Given the description of an element on the screen output the (x, y) to click on. 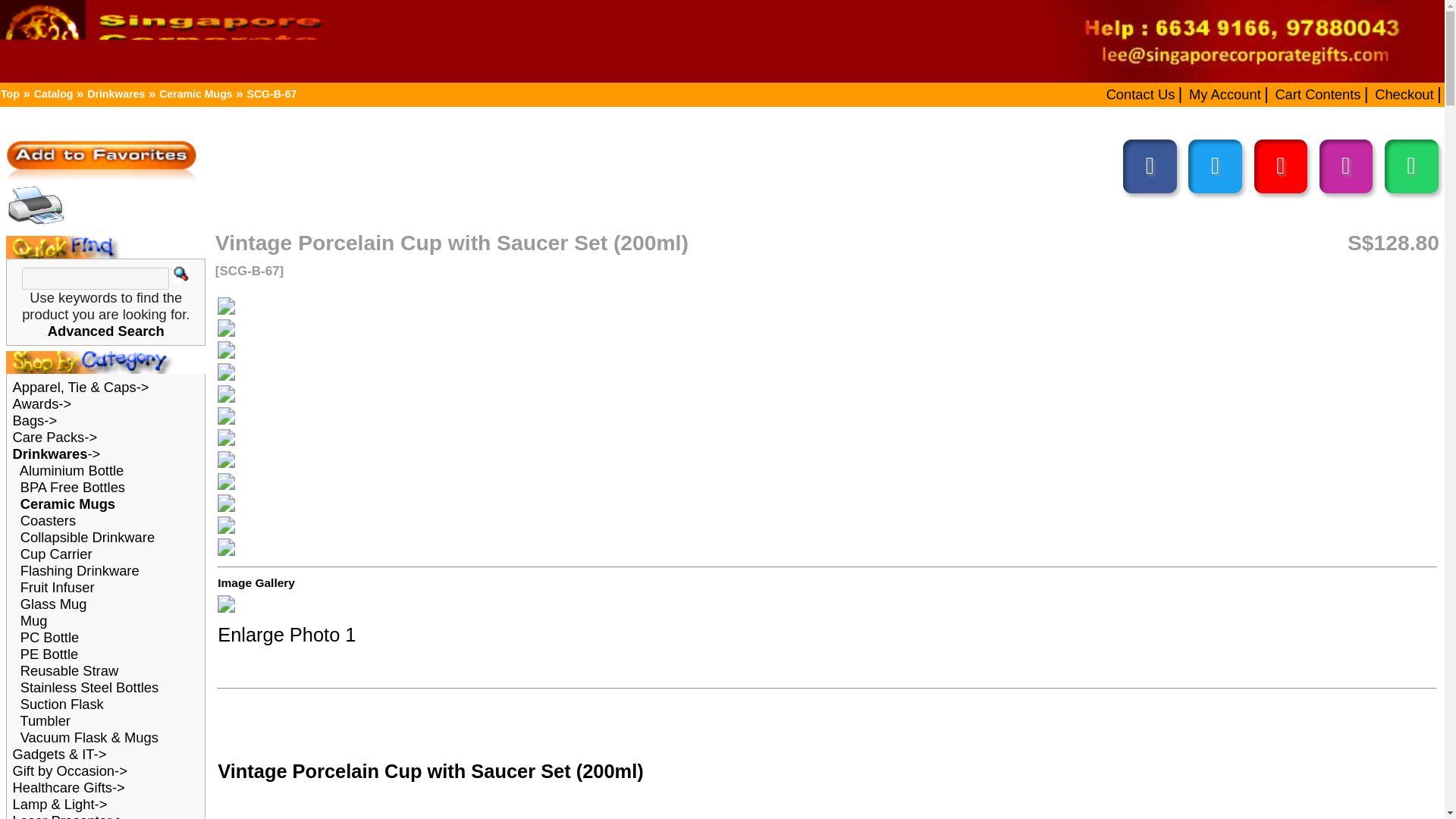
Contact Us (809, 66)
Glass Mug (37, 428)
Drinkwares (82, 66)
BPA Free Bottles (51, 345)
PE Bottle (34, 463)
My Account (869, 66)
Print Current page (25, 146)
Cup Carrier (39, 392)
Coasters (33, 368)
Mug (23, 439)
Ceramic Mugs (138, 66)
PC Bottle (35, 451)
Save Current Page For Future Reference (70, 113)
Advanced Search (74, 233)
Collapsible Drinkware (62, 380)
